Given the description of an element on the screen output the (x, y) to click on. 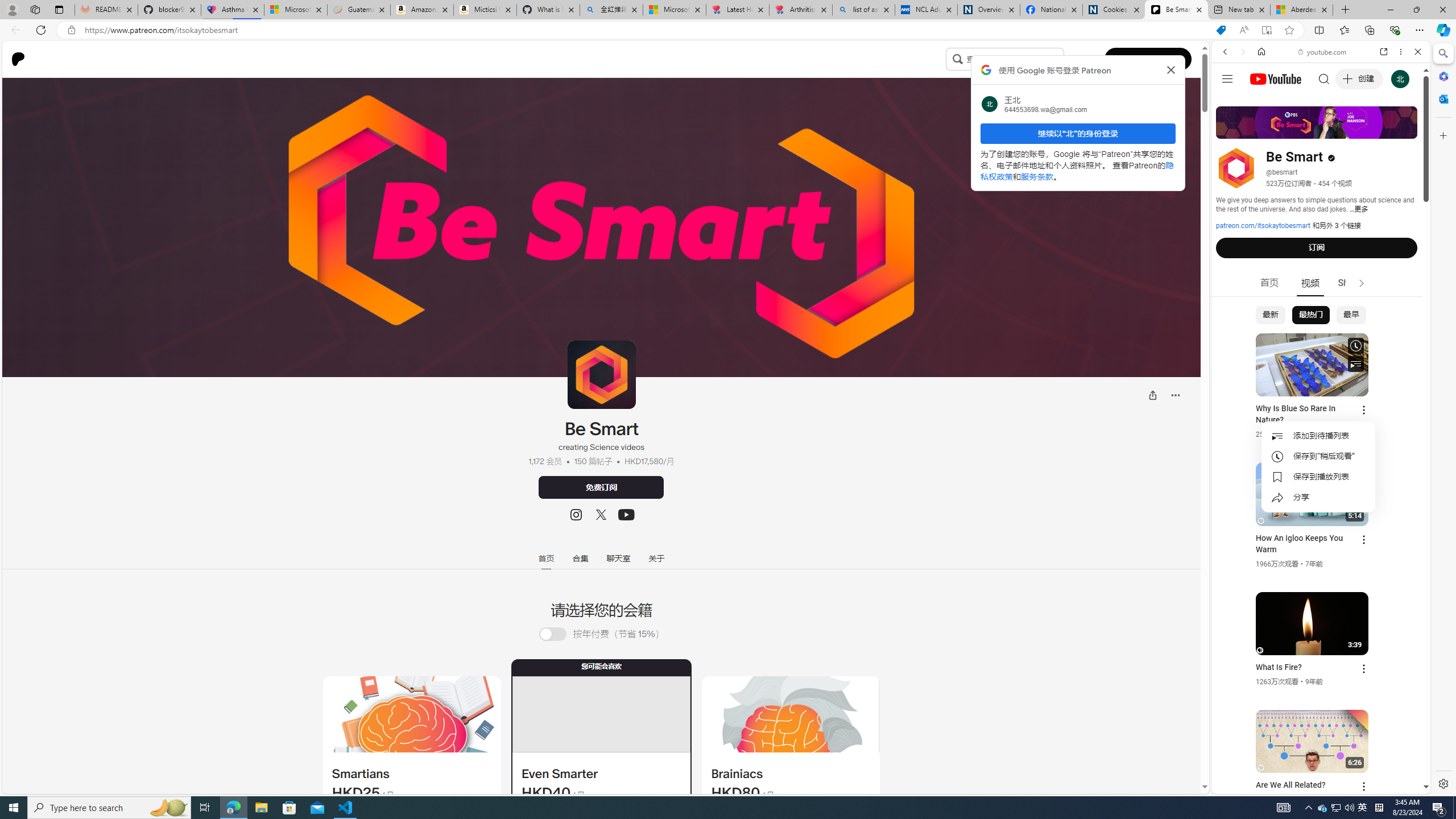
Search videos from youtube.com (1299, 373)
Class: sc-jrQzAO inFiZu (957, 58)
